Given the description of an element on the screen output the (x, y) to click on. 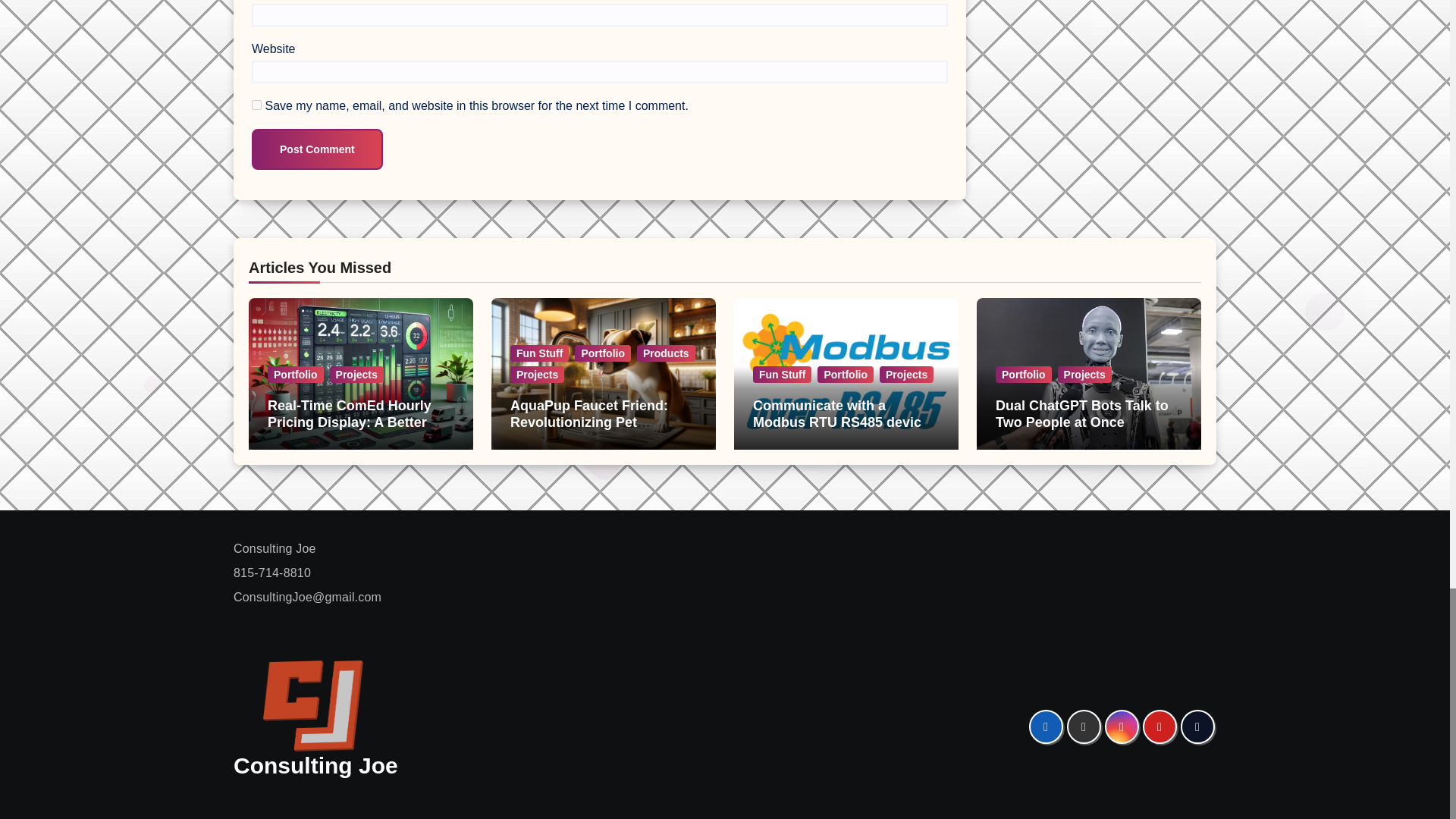
yes (256, 104)
Post Comment (316, 148)
